Given the description of an element on the screen output the (x, y) to click on. 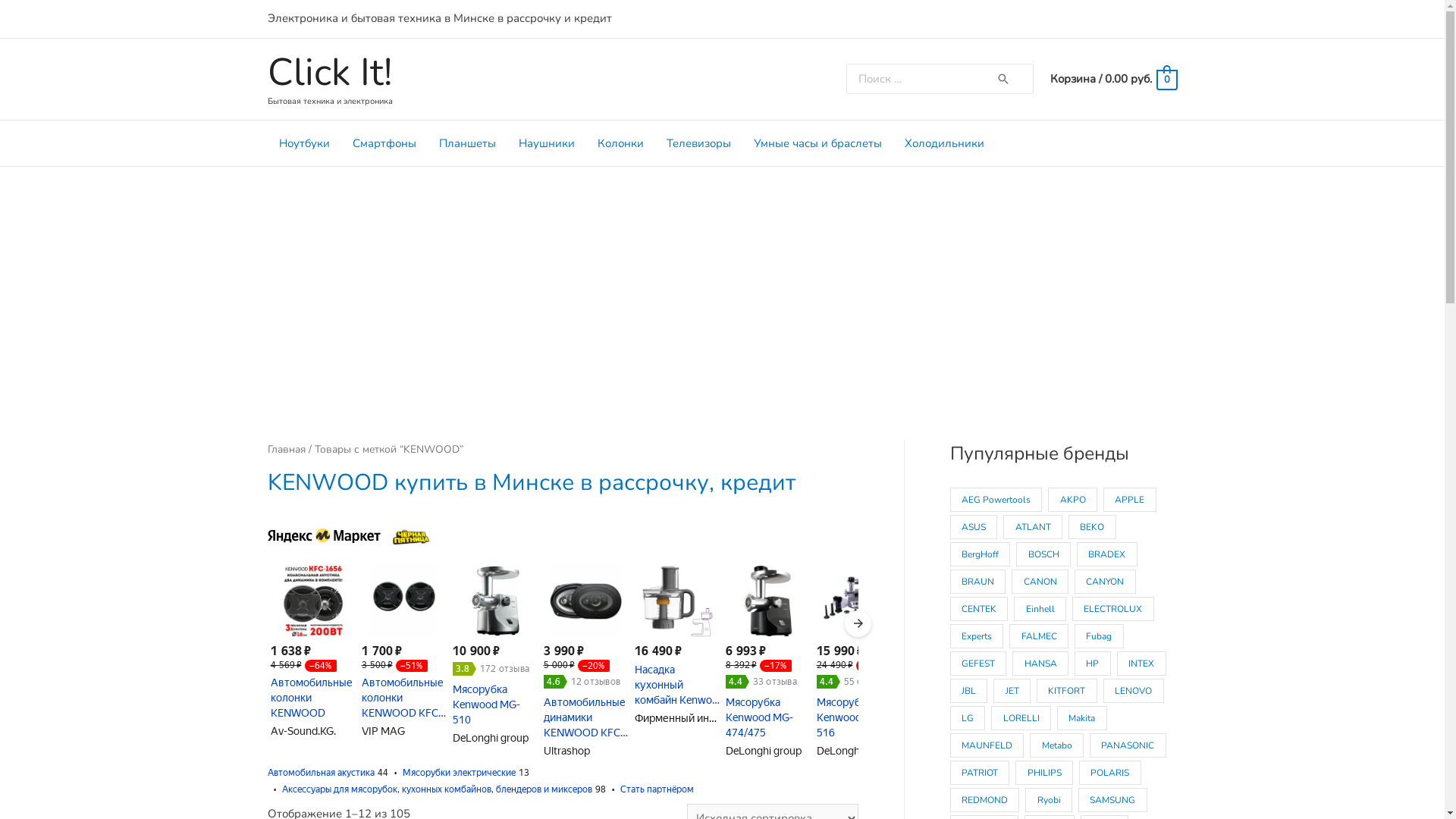
MAUNFELD Element type: text (986, 745)
VIP MAG Element type: text (382, 730)
Ultrashop Element type: text (565, 750)
Ryobi Element type: text (1048, 799)
BOSCH Element type: text (1043, 554)
APPLE Element type: text (1129, 499)
Advertisement Element type: hover (721, 280)
4.4 Element type: text (736, 681)
DeLonghi group Element type: text (762, 750)
Av-Sound.KG. Element type: text (302, 730)
3.8 Element type: text (463, 668)
INTEX Element type: text (1141, 663)
LORELLI Element type: text (1021, 718)
DeLonghi group Element type: text (853, 750)
Metabo Element type: text (1056, 745)
DeLonghi group Element type: text (489, 737)
AEG Powertools Element type: text (995, 499)
Click It! Element type: text (328, 72)
REDMOND Element type: text (984, 799)
JET Element type: text (1011, 690)
PHILIPS Element type: text (1044, 772)
CANYON Element type: text (1104, 581)
PATRIOT Element type: text (979, 772)
Experts Element type: text (976, 636)
ATLANT Element type: text (1032, 526)
BergHoff Element type: text (979, 554)
AKPO Element type: text (1072, 499)
SAMSUNG Element type: text (1112, 799)
ELECTROLUX Element type: text (1113, 608)
Makita Element type: text (1082, 718)
CANON Element type: text (1039, 581)
JBL Element type: text (968, 690)
LG Element type: text (967, 718)
KITFORT Element type: text (1066, 690)
Fubag Element type: text (1098, 636)
BEKO Element type: text (1092, 526)
HP Element type: text (1092, 663)
CENTEK Element type: text (978, 608)
FALMEC Element type: text (1038, 636)
PANASONIC Element type: text (1127, 745)
Einhell Element type: text (1039, 608)
BRADEX Element type: text (1106, 554)
4.6 Element type: text (554, 681)
4.4 Element type: text (827, 681)
BRAUN Element type: text (977, 581)
ASUS Element type: text (973, 526)
LENOVO Element type: text (1133, 690)
POLARIS Element type: text (1110, 772)
GEFEST Element type: text (977, 663)
HANSA Element type: text (1040, 663)
